Given the description of an element on the screen output the (x, y) to click on. 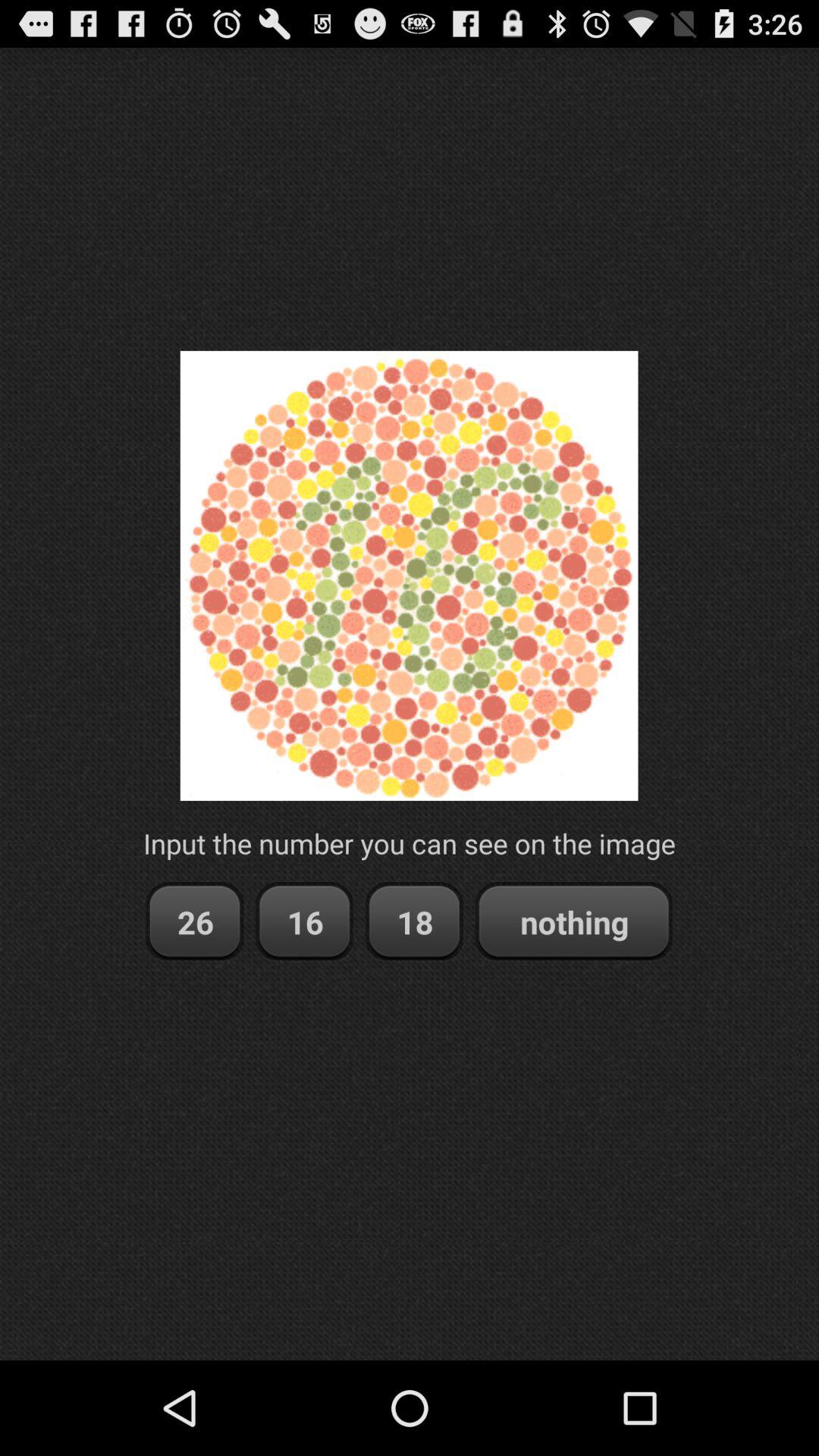
scroll until 18 icon (414, 921)
